Given the description of an element on the screen output the (x, y) to click on. 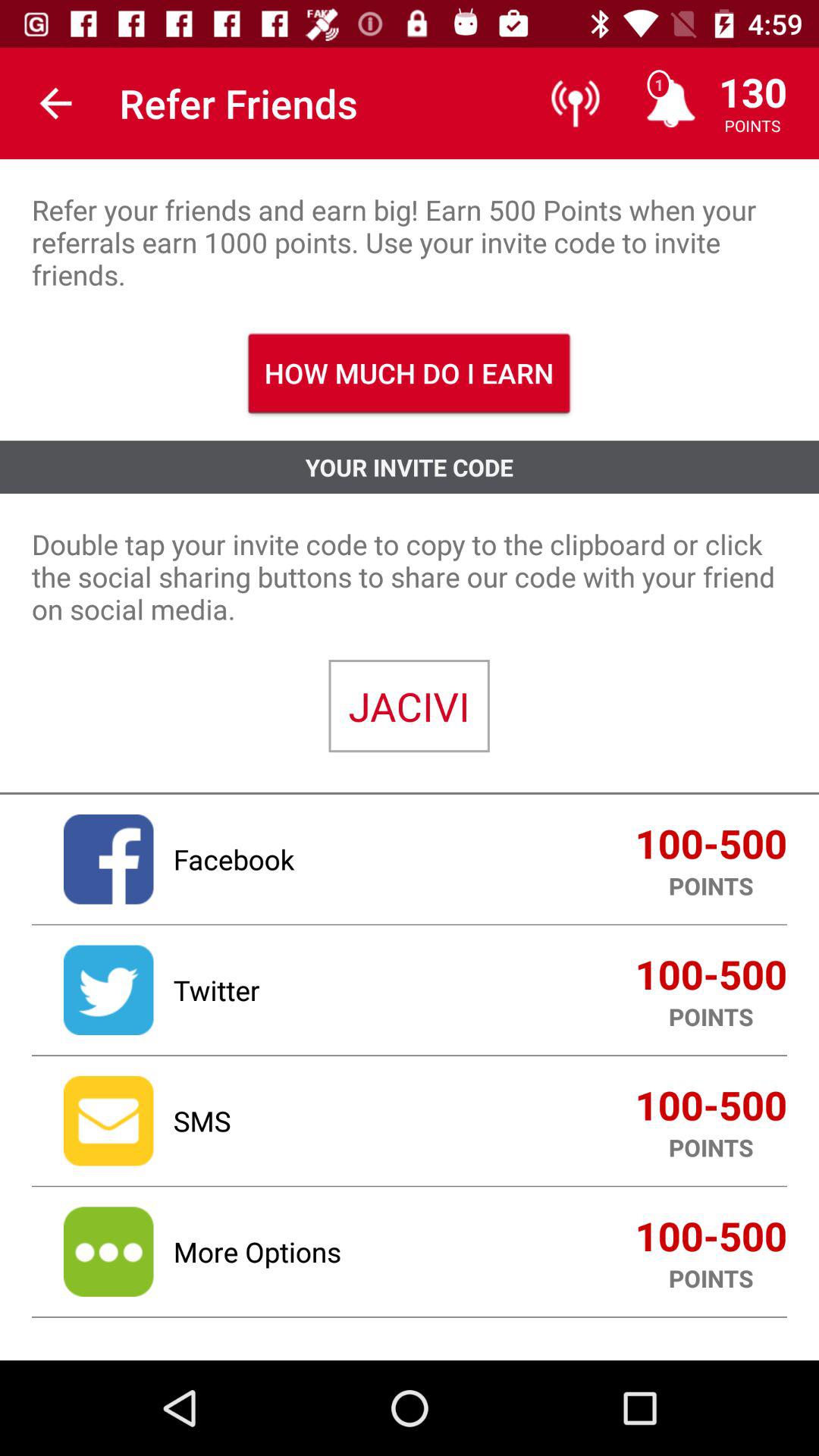
jump to how much do (408, 372)
